Given the description of an element on the screen output the (x, y) to click on. 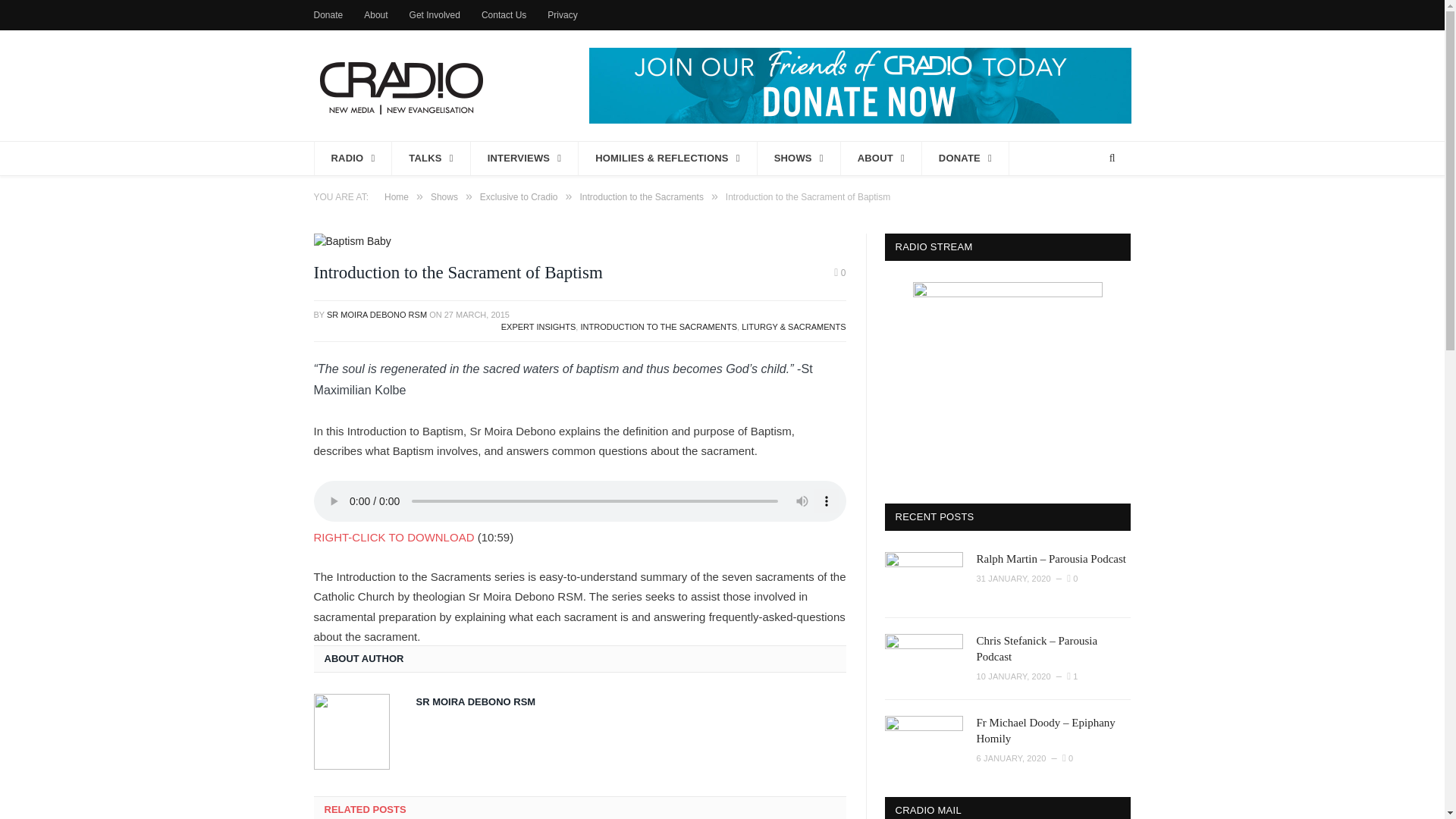
Privacy (561, 14)
Get Involved (434, 14)
Cradio (400, 84)
Donate (328, 14)
RADIO (353, 158)
Contact Us (503, 14)
TALKS (430, 158)
About (375, 14)
